Given the description of an element on the screen output the (x, y) to click on. 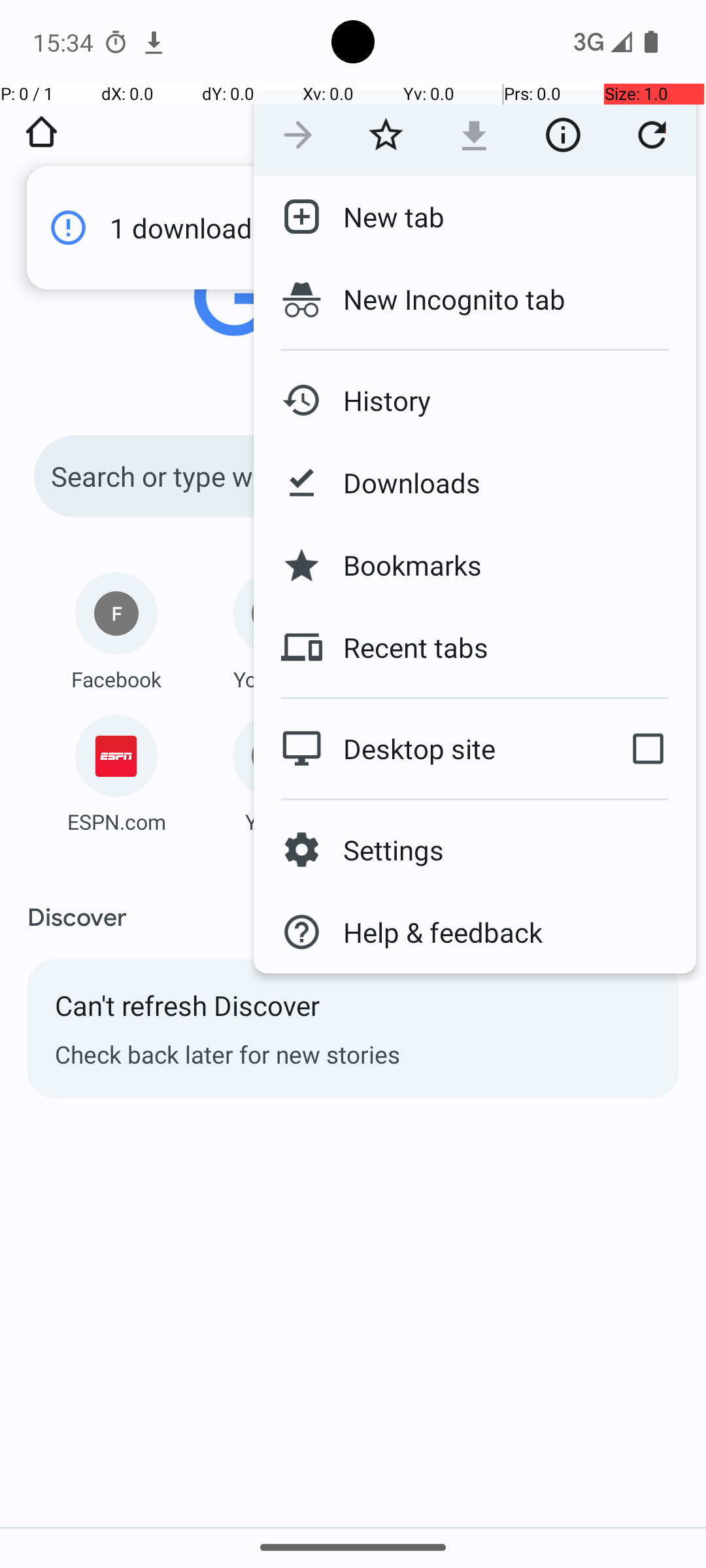
Forward Element type: android.widget.ImageButton (297, 134)
Bookmark Element type: android.widget.ImageButton (385, 134)
Page info Element type: android.widget.ImageButton (562, 134)
Bookmarks Element type: android.widget.TextView (401, 564)
Recent tabs Element type: android.widget.TextView (405, 647)
Chrome notification: m.youtube.com Element type: android.widget.ImageView (153, 41)
